Given the description of an element on the screen output the (x, y) to click on. 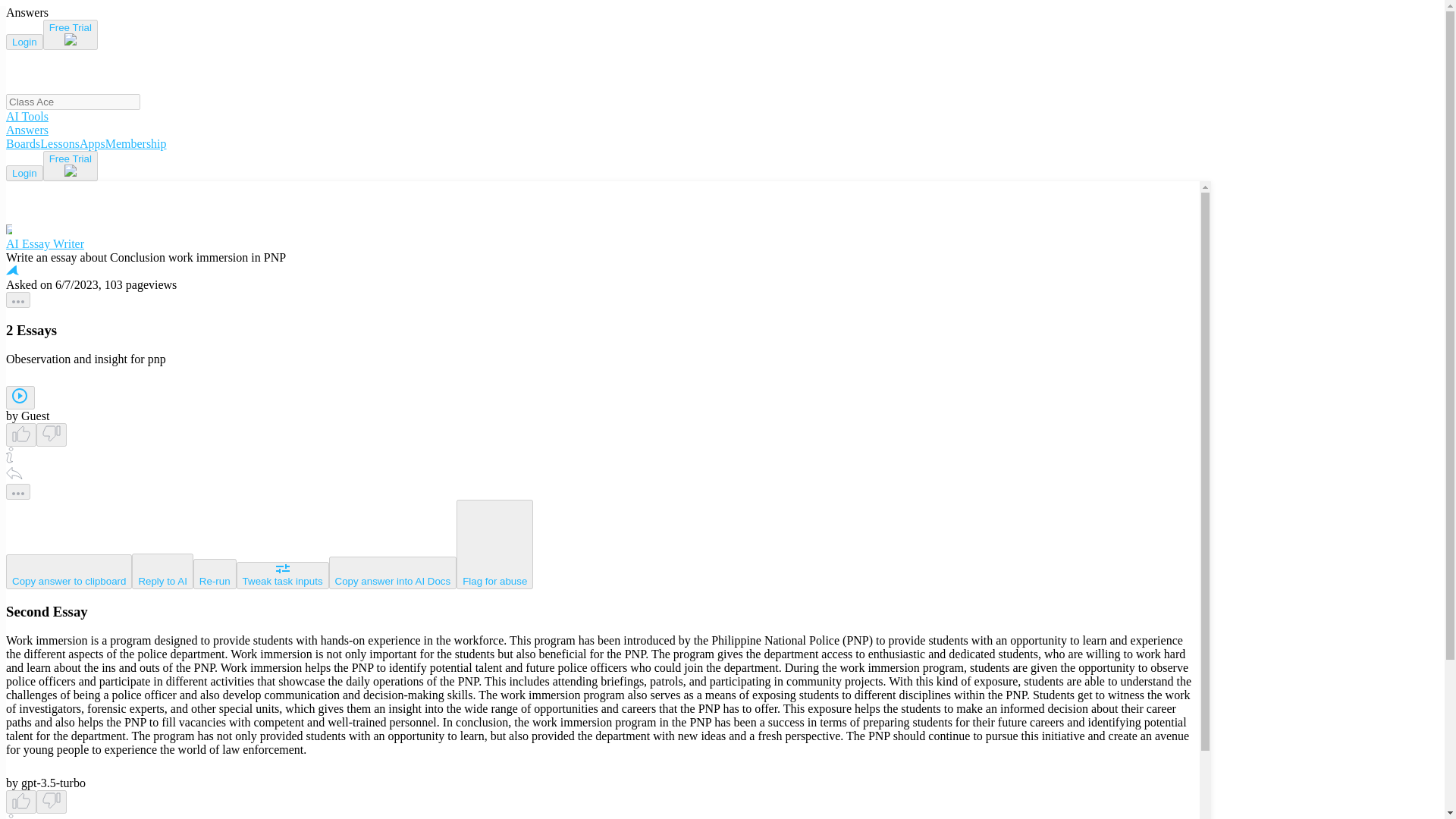
Copy answer to clipboard (68, 571)
Membership (135, 143)
Copy answer into AI Docs (393, 572)
Reply to AI (162, 570)
Boards (22, 143)
Login (24, 172)
Apps (92, 143)
Lessons (60, 143)
Tweak task inputs (282, 574)
Free Trial (70, 165)
Re-run (214, 573)
Login (24, 41)
Flag for abuse (494, 543)
AI Essay Writer (602, 236)
